Given the description of an element on the screen output the (x, y) to click on. 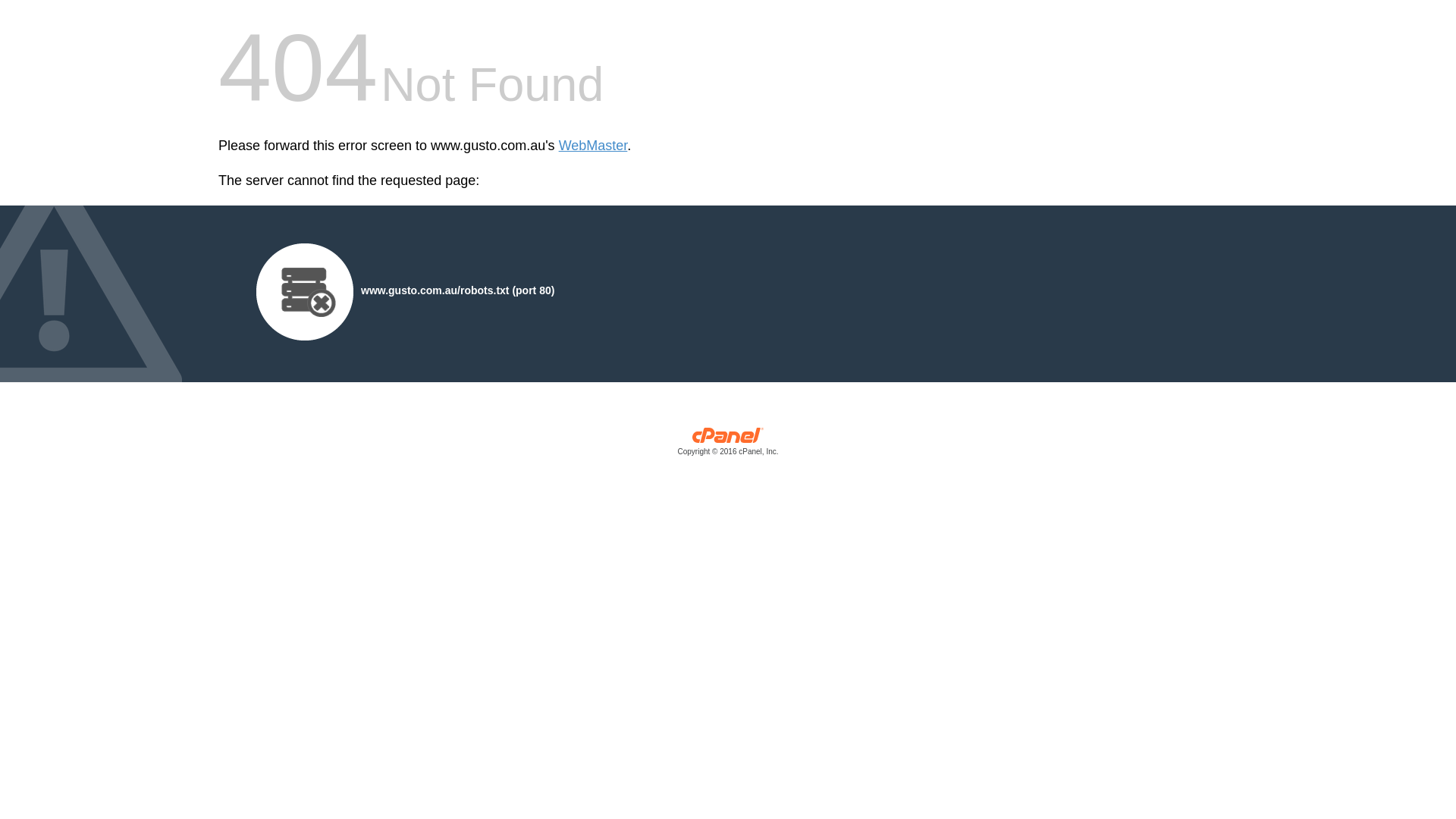
WebMaster Element type: text (592, 145)
